Given the description of an element on the screen output the (x, y) to click on. 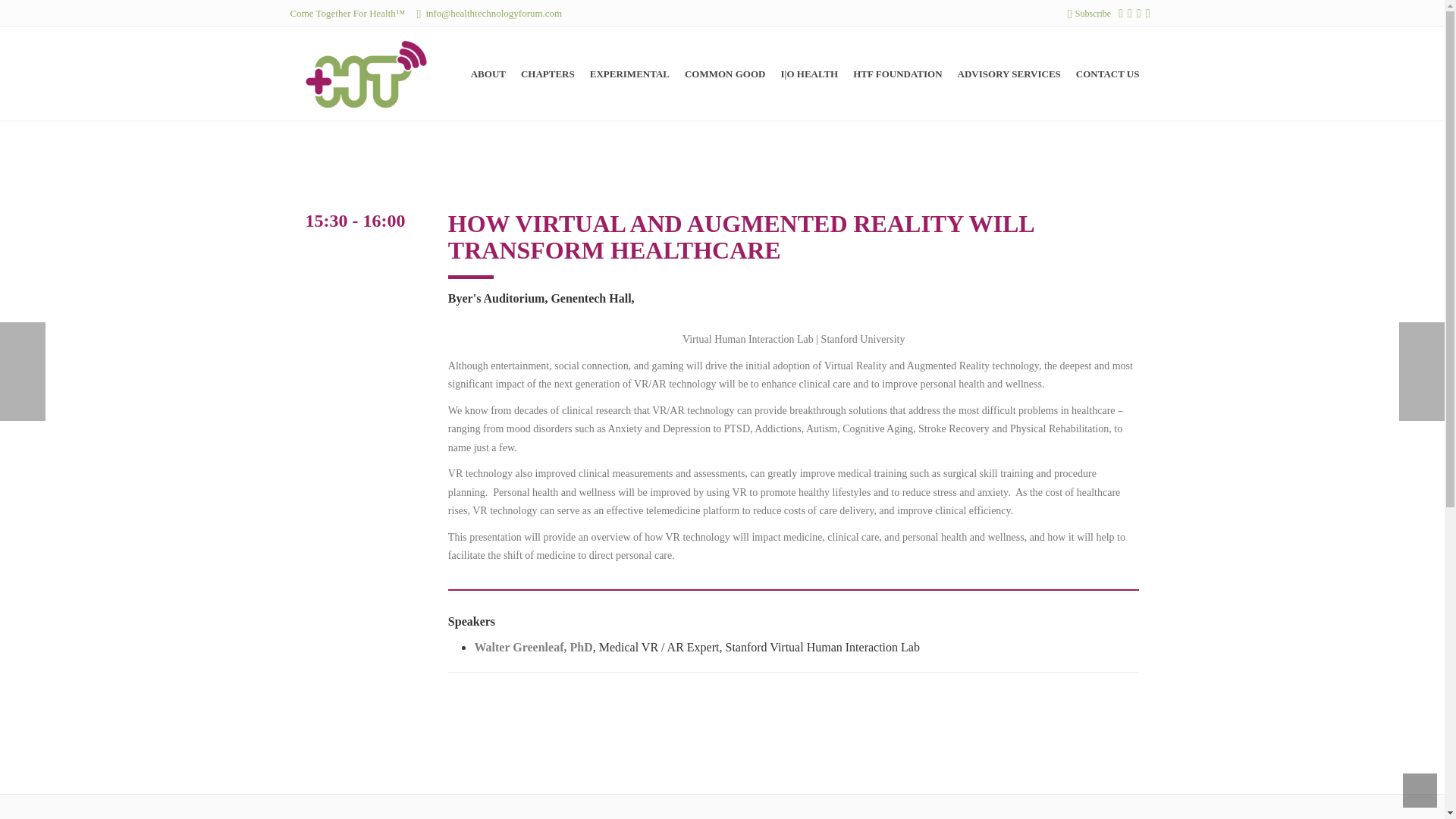
COMMON GOOD (725, 74)
CHAPTERS (547, 74)
EXPERIMENTAL (629, 74)
Subscribe (1088, 13)
ABOUT (488, 74)
